Given the description of an element on the screen output the (x, y) to click on. 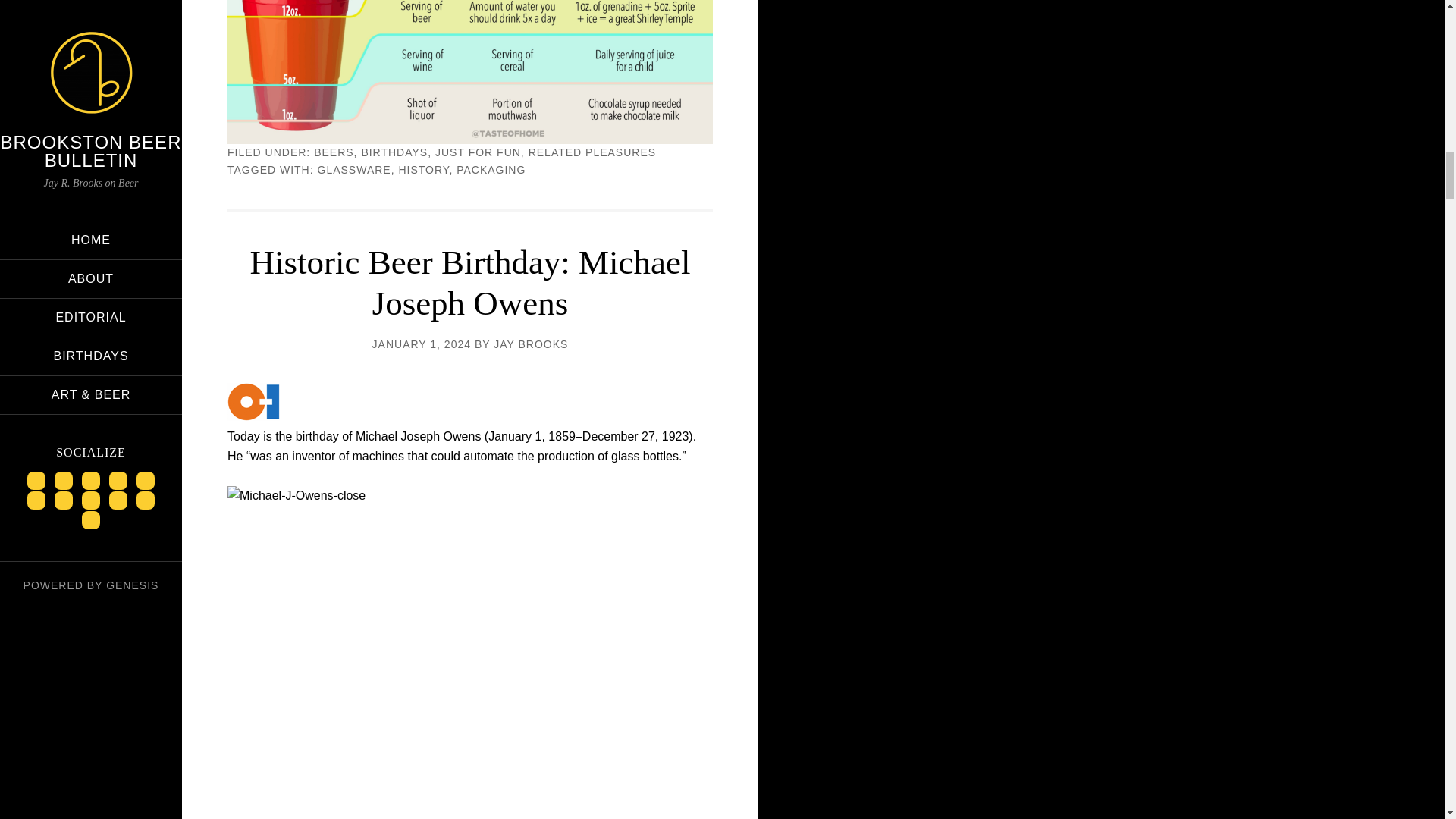
HISTORY (422, 169)
GLASSWARE (354, 169)
JAY BROOKS (530, 344)
Historic Beer Birthday: Michael Joseph Owens (469, 282)
JUST FOR FUN (478, 152)
PACKAGING (491, 169)
BIRTHDAYS (394, 152)
RELATED PLEASURES (592, 152)
BEERS (333, 152)
